Given the description of an element on the screen output the (x, y) to click on. 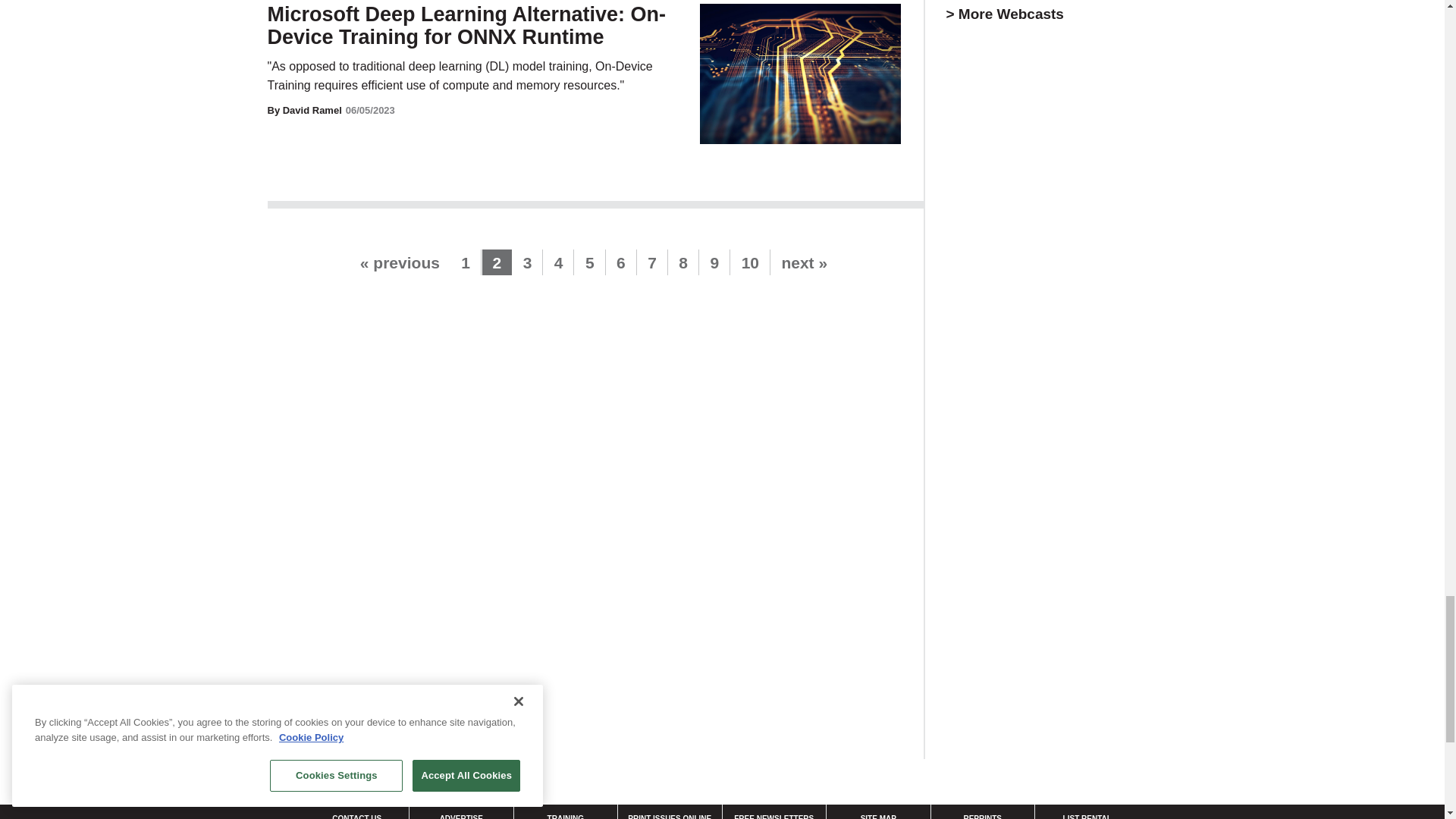
3rd party ad content (1059, 626)
3rd party ad content (1059, 398)
3rd party ad content (1059, 171)
